Given the description of an element on the screen output the (x, y) to click on. 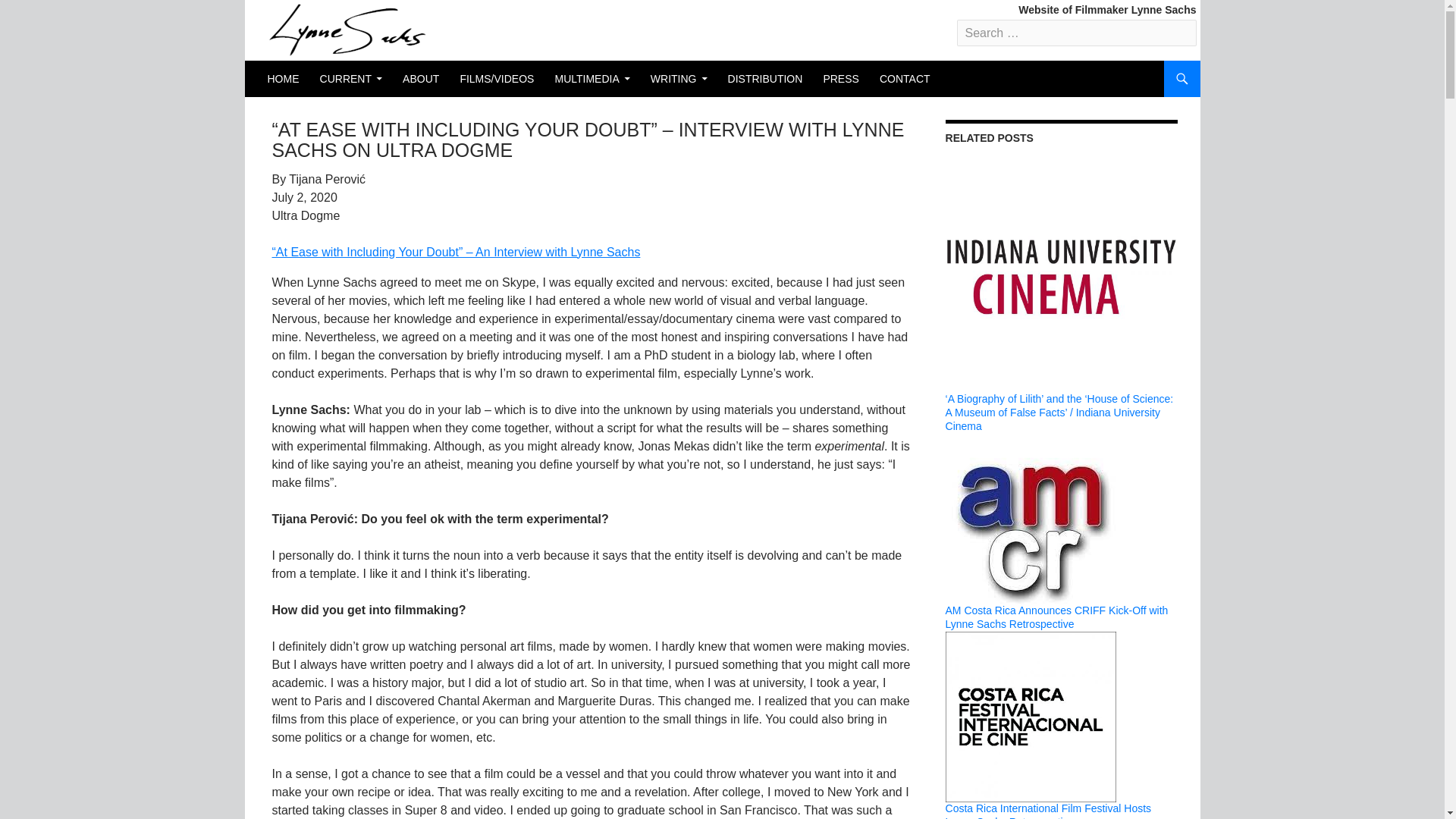
WRITING (679, 78)
DISTRIBUTION (765, 78)
CURRENT (351, 78)
PRESS (840, 78)
ABOUT (420, 78)
Search for: (1076, 32)
HOME (282, 78)
CONTACT (904, 78)
MULTIMEDIA (591, 78)
